Given the description of an element on the screen output the (x, y) to click on. 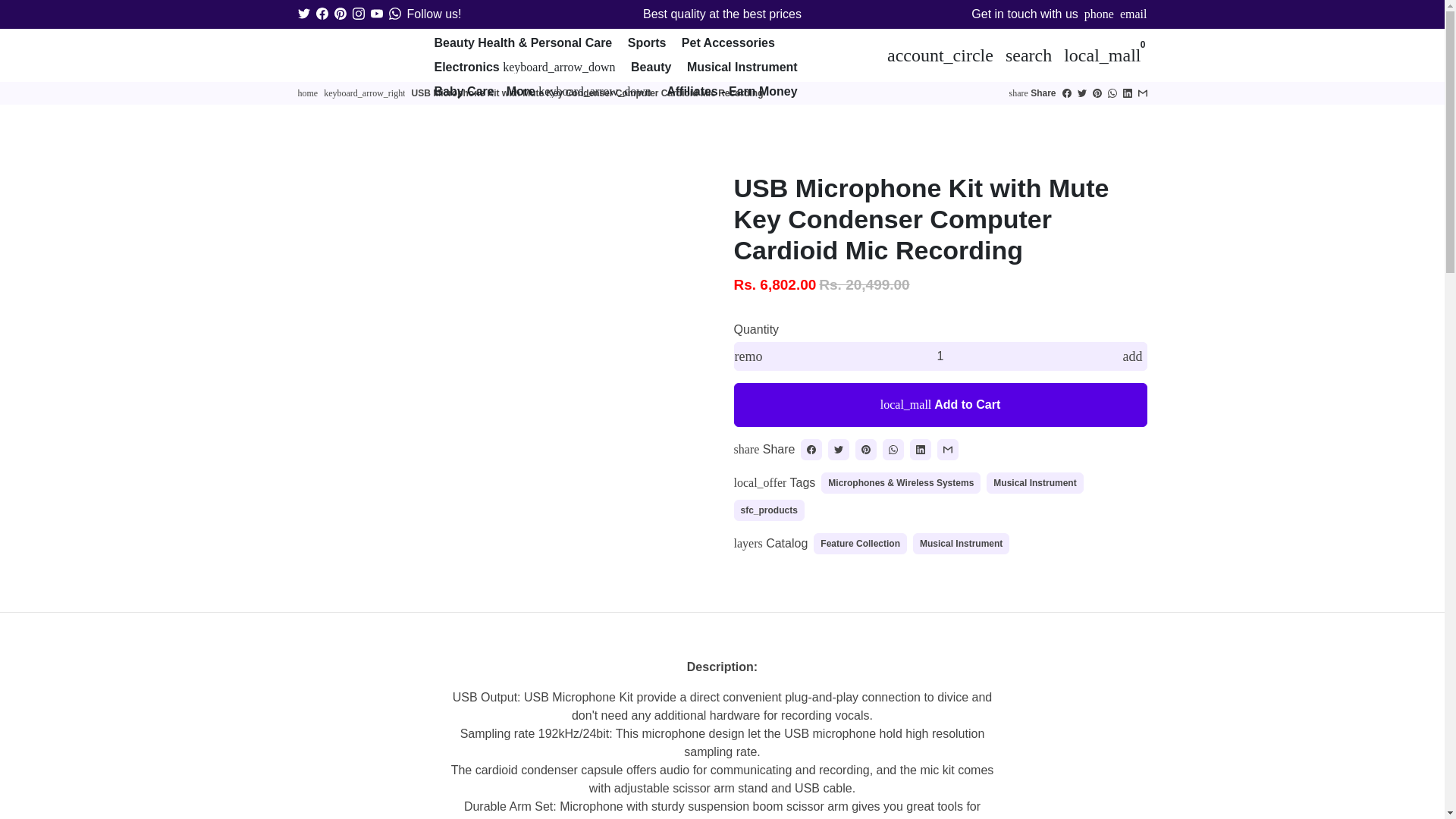
ikabestbuy on Pinterest (339, 13)
ikabestbuy on Facebook (321, 13)
1 (940, 356)
ikabestbuy on Instagram (358, 13)
ikabestbuy on Twitter (302, 13)
ikabestbuy on Youtube (375, 13)
